Given the description of an element on the screen output the (x, y) to click on. 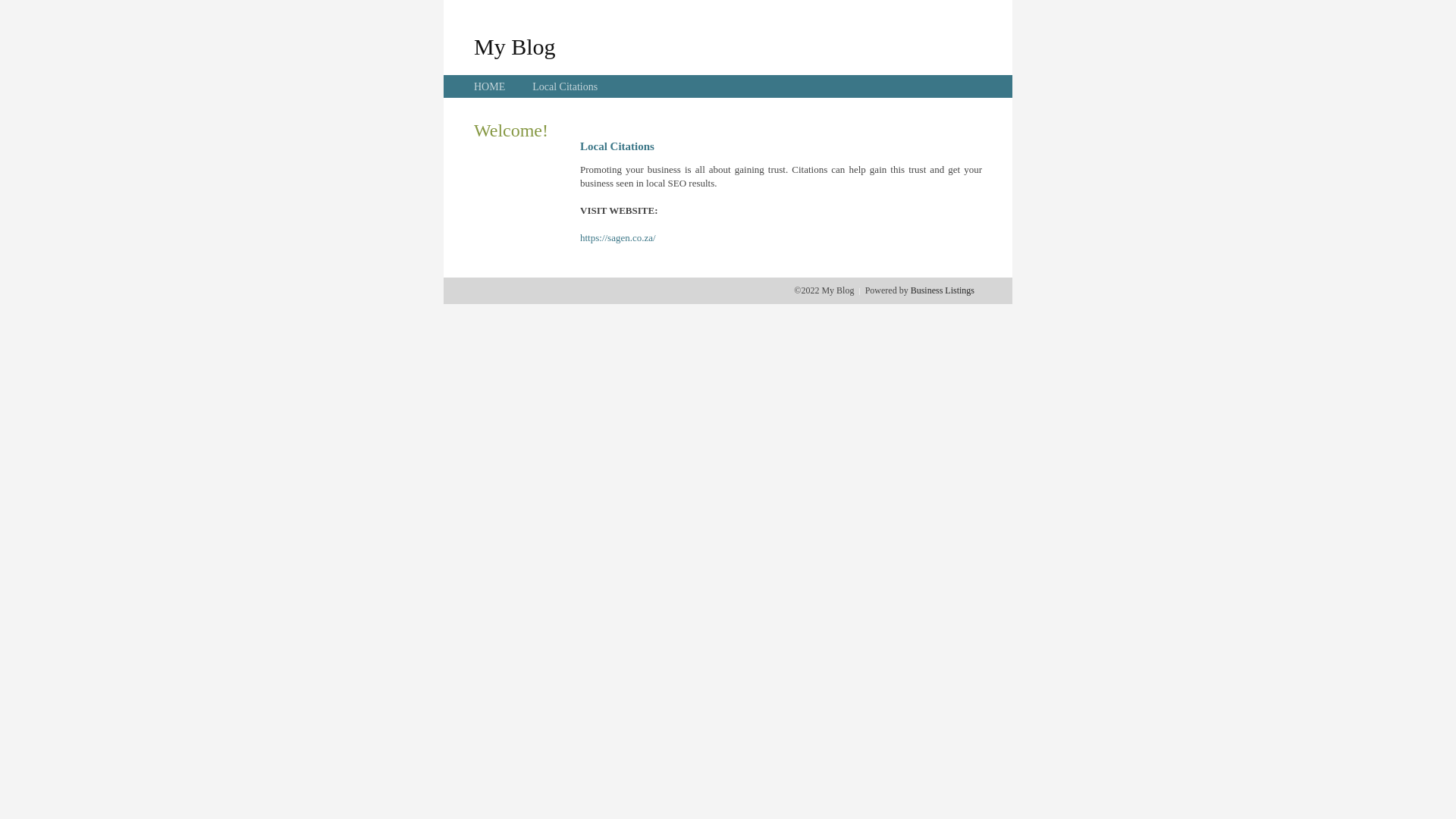
https://sagen.co.za/ Element type: text (617, 237)
Local Citations Element type: text (564, 86)
Business Listings Element type: text (942, 290)
HOME Element type: text (489, 86)
My Blog Element type: text (514, 46)
